Given the description of an element on the screen output the (x, y) to click on. 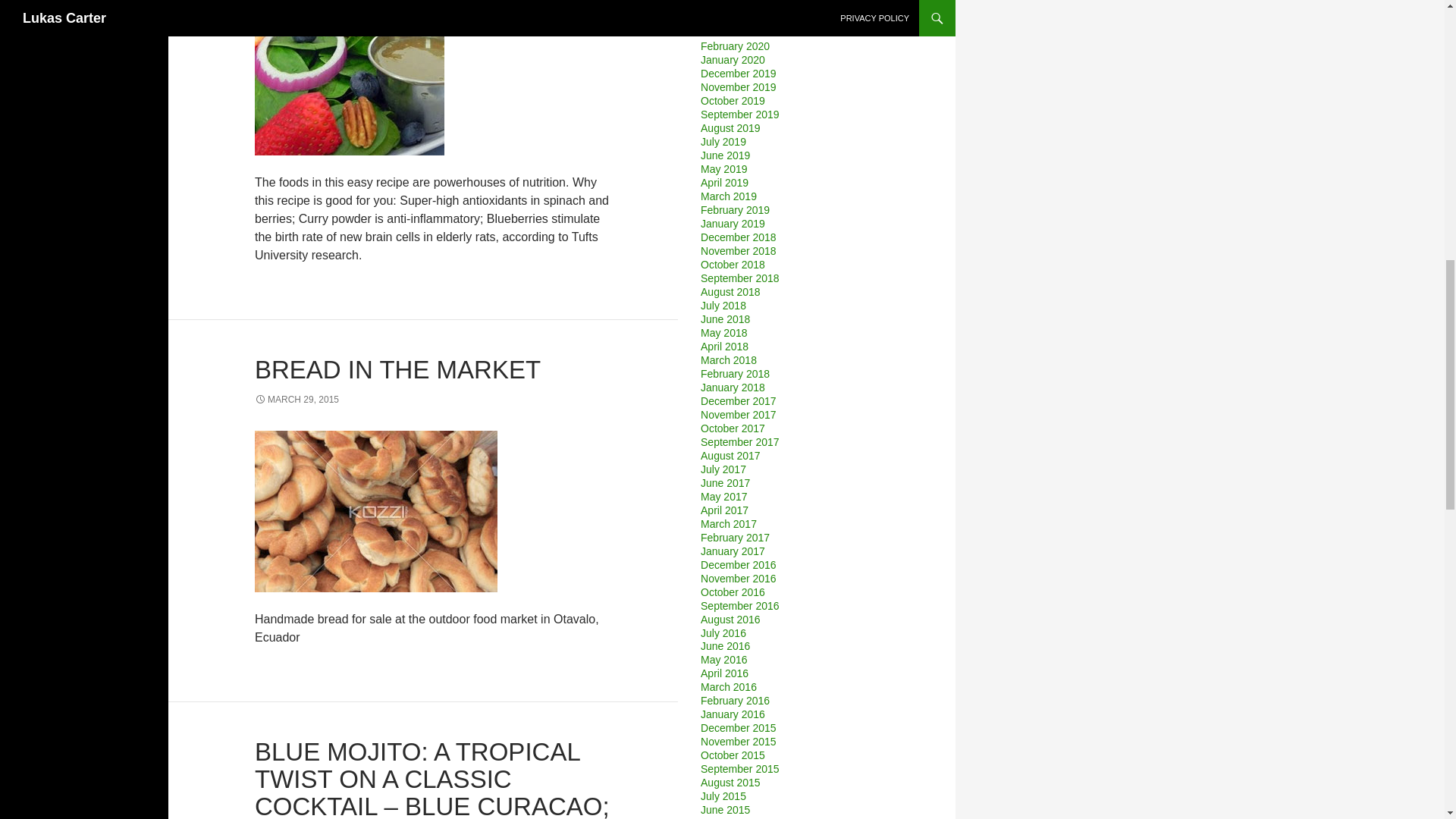
MARCH 29, 2015 (296, 398)
BREAD IN THE MARKET (397, 369)
